Given the description of an element on the screen output the (x, y) to click on. 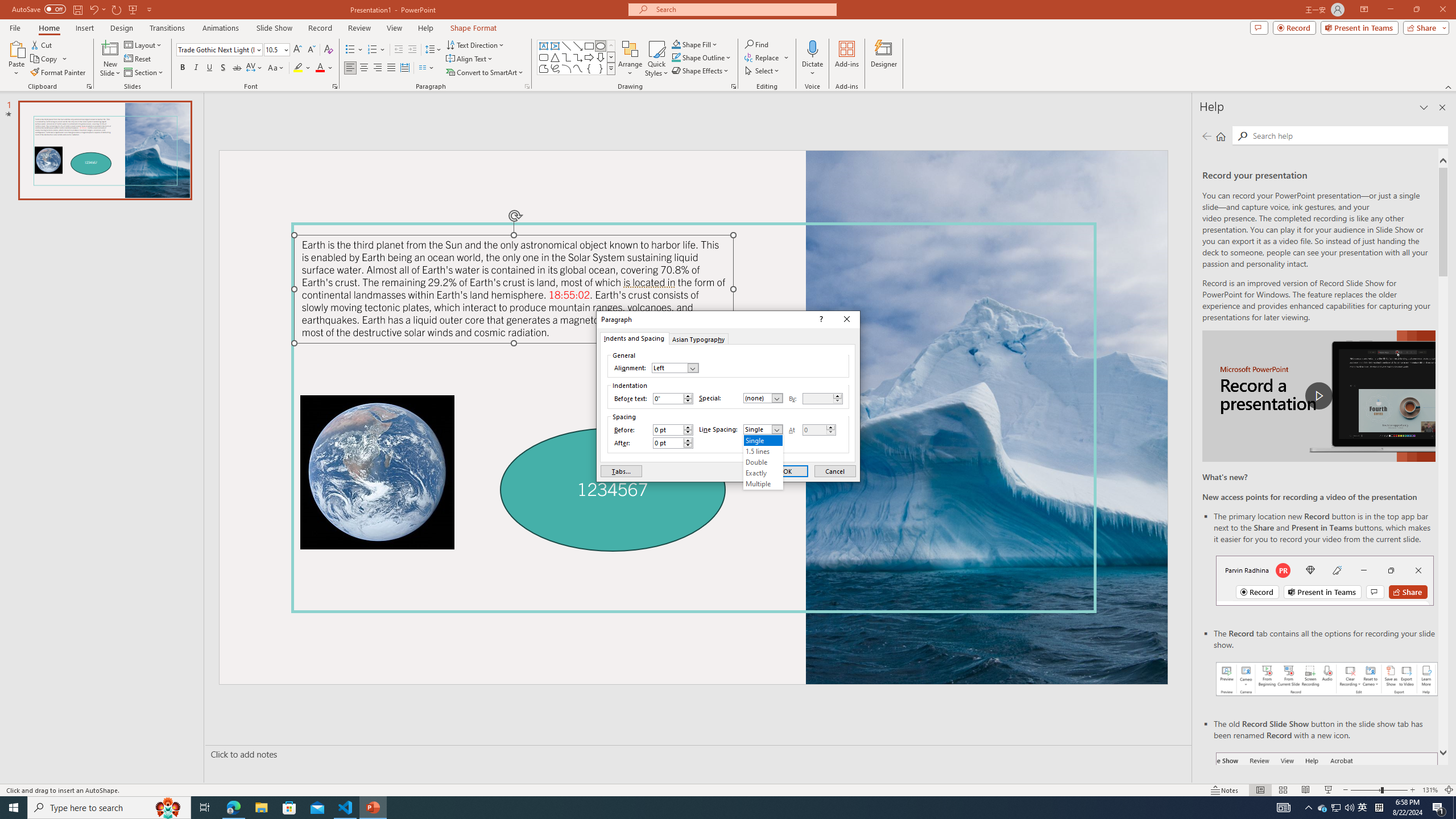
Tabs... (620, 470)
Before (672, 429)
Before text (667, 398)
